Given the description of an element on the screen output the (x, y) to click on. 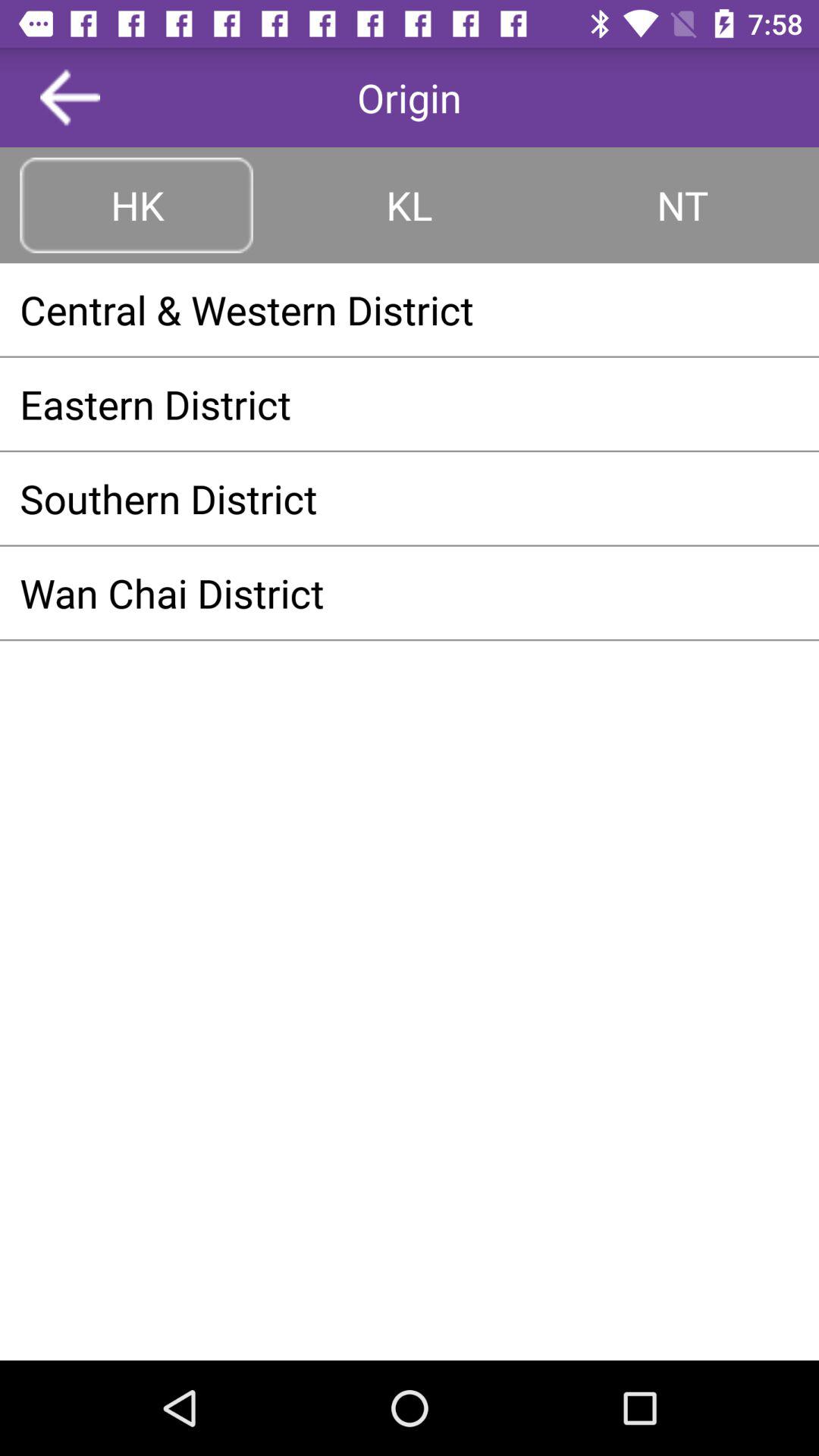
jump to hk (136, 205)
